Given the description of an element on the screen output the (x, y) to click on. 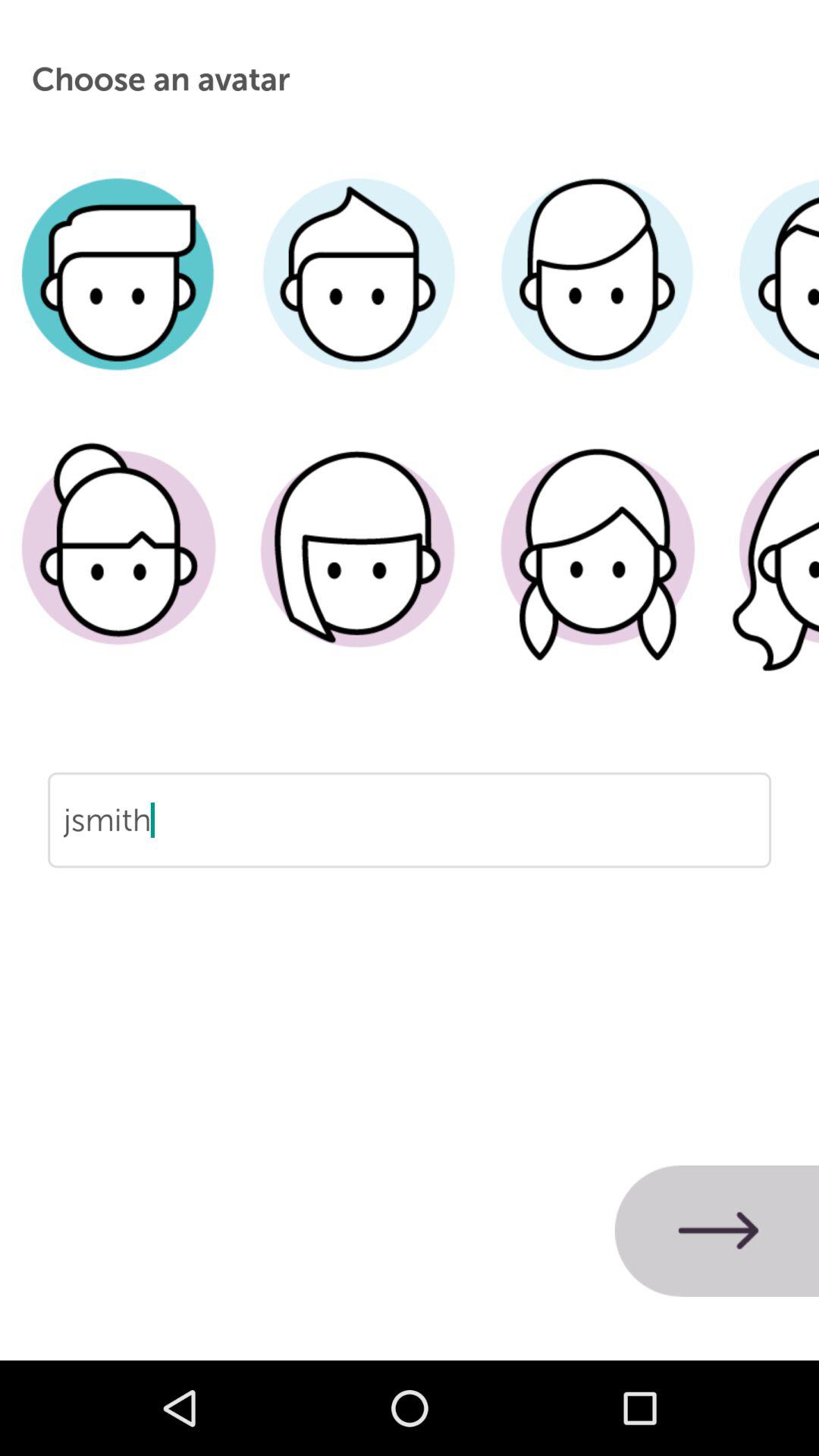
choose avatar (596, 296)
